Given the description of an element on the screen output the (x, y) to click on. 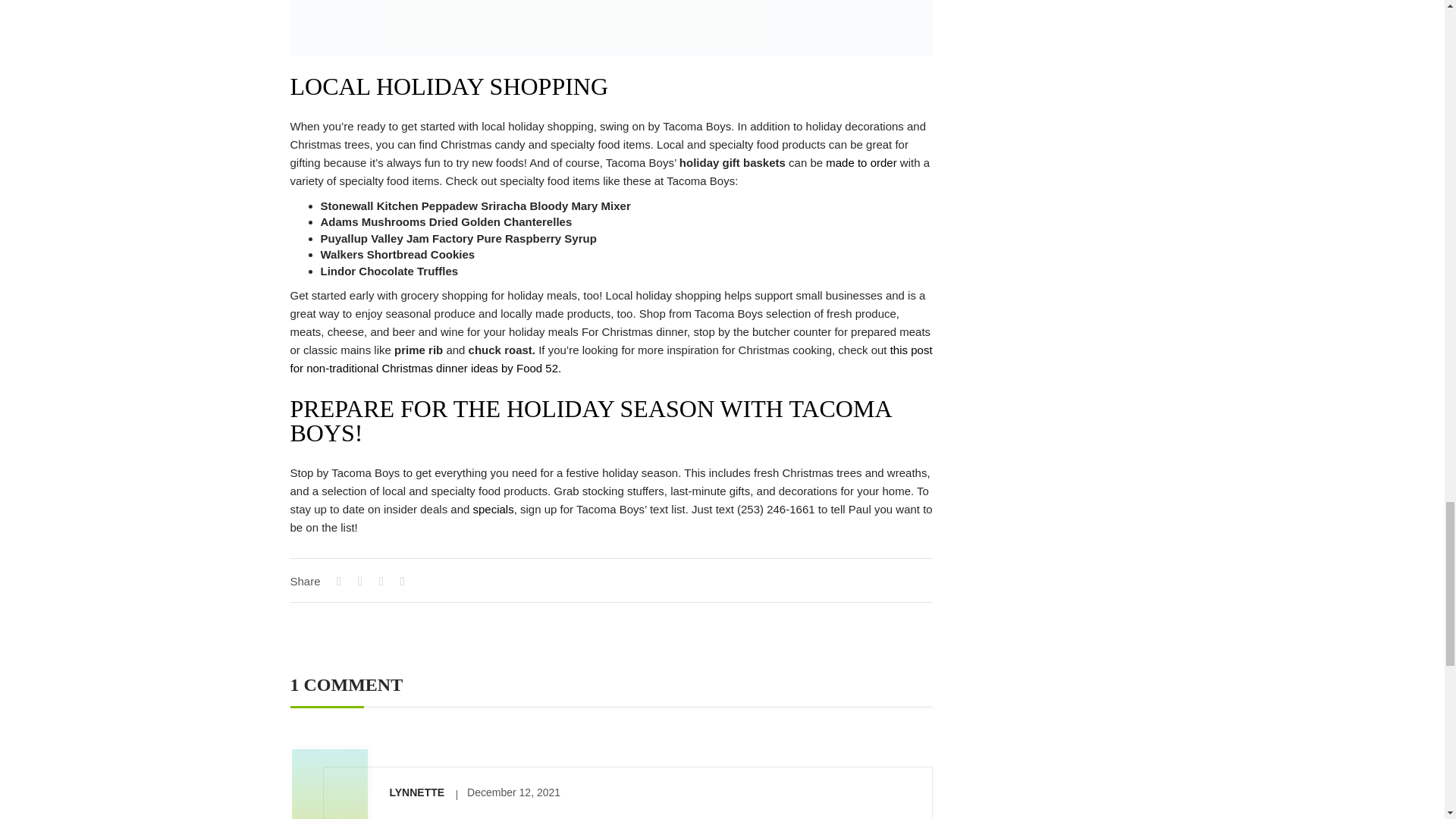
made to order (860, 162)
specials (493, 508)
